Given the description of an element on the screen output the (x, y) to click on. 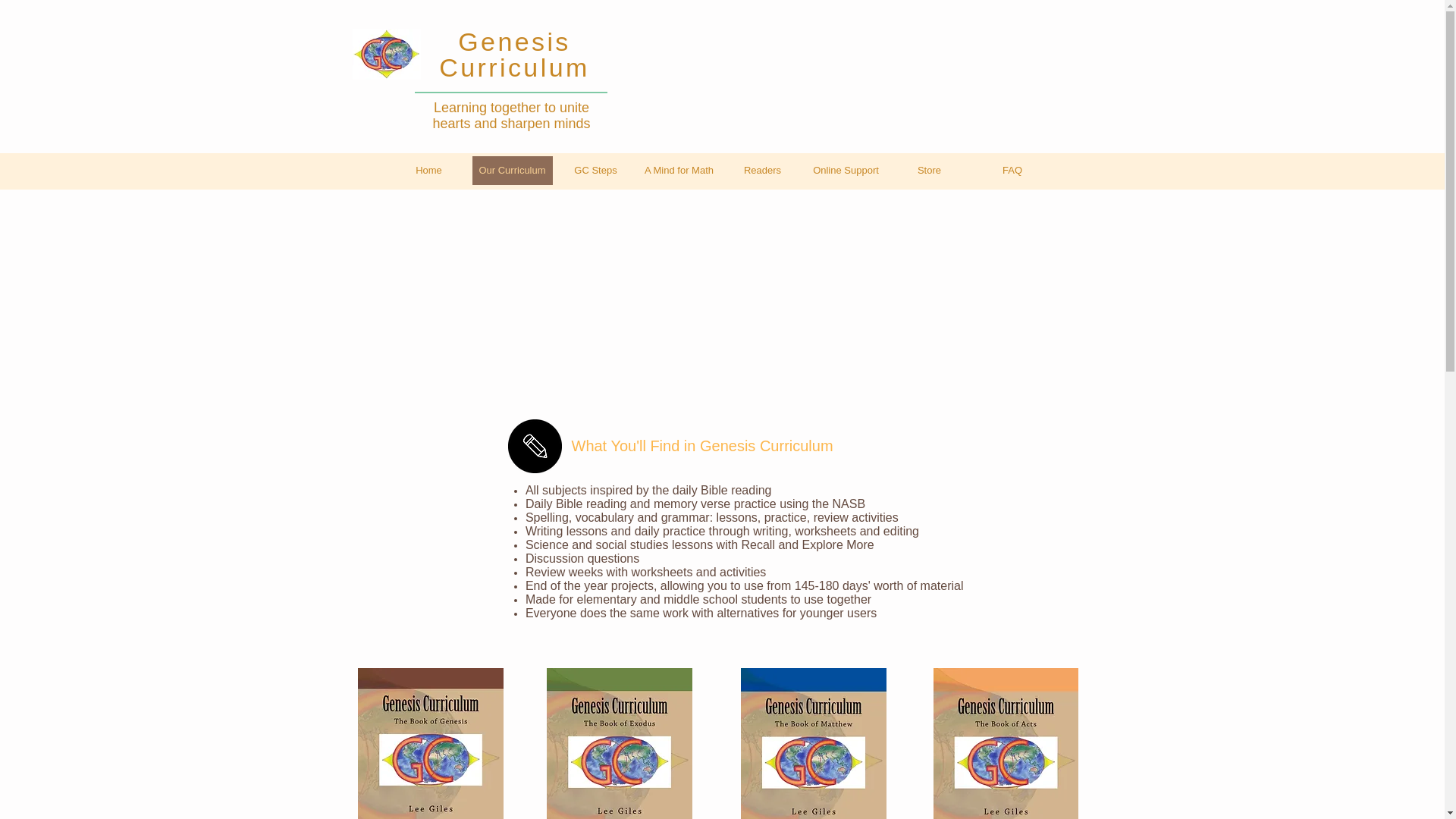
Online Support (845, 170)
GCCoverPicture with white.jpg (386, 53)
Our Curriculum (511, 170)
Genesis Curriculum (514, 54)
Store (928, 170)
FAQ (1011, 170)
A Mind for Math (679, 170)
Readers (762, 170)
External YouTube (549, 314)
Home (428, 170)
Learning together to unite hearts and sharpen minds (510, 115)
External YouTube (891, 314)
GC Steps (594, 170)
